Given the description of an element on the screen output the (x, y) to click on. 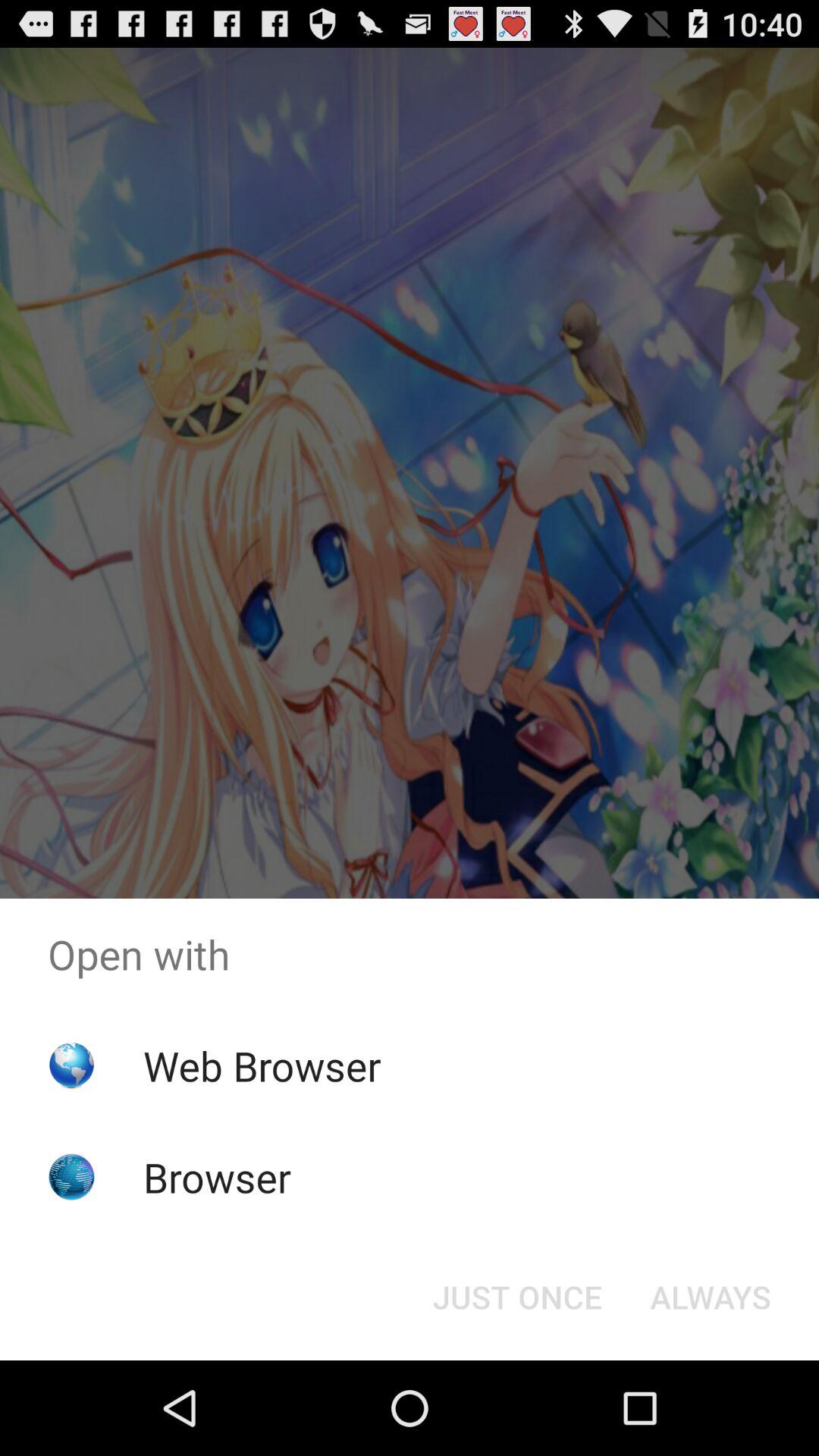
launch the icon below open with icon (517, 1296)
